Given the description of an element on the screen output the (x, y) to click on. 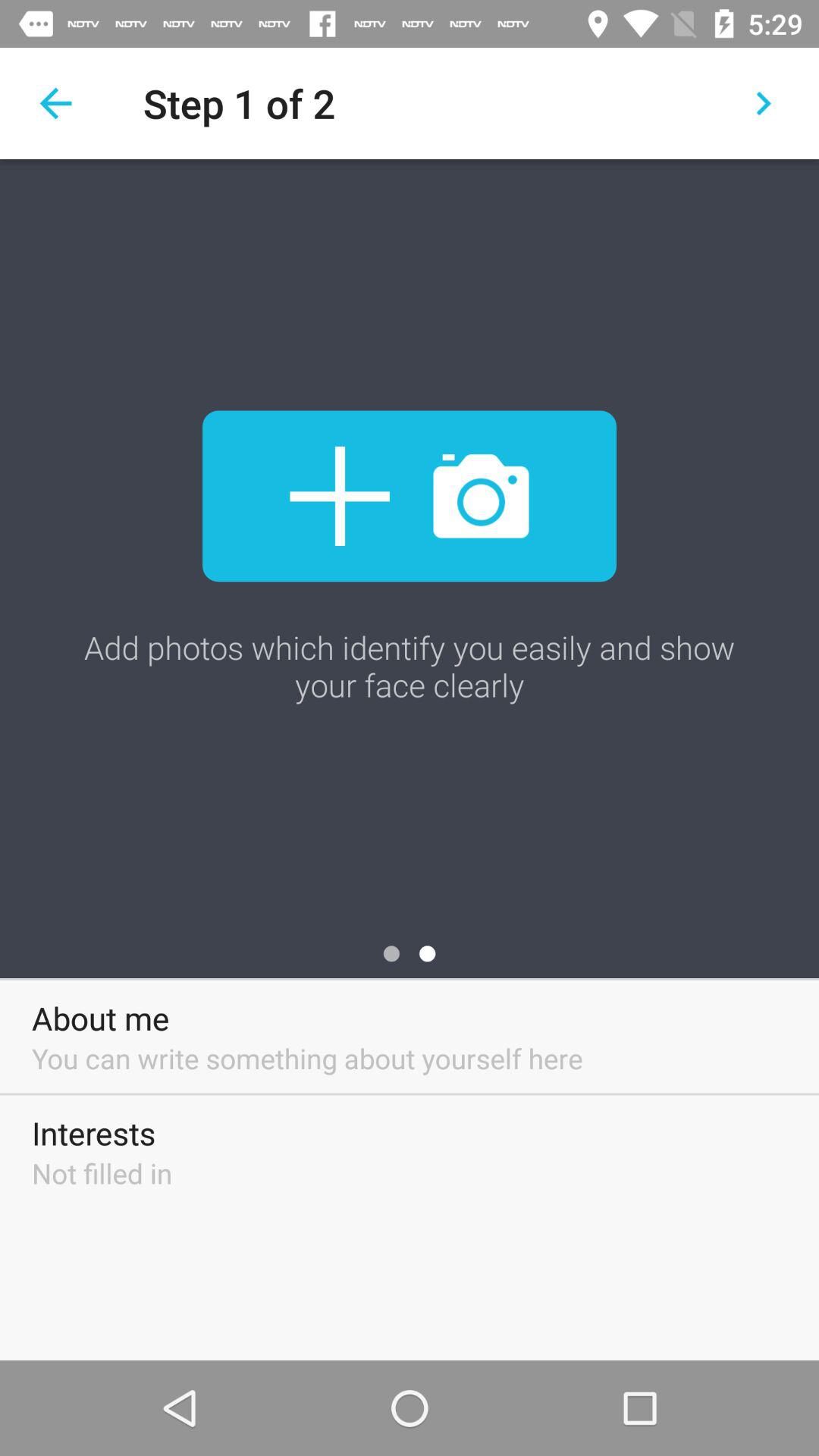
open item to the right of the step 1 of (763, 103)
